Given the description of an element on the screen output the (x, y) to click on. 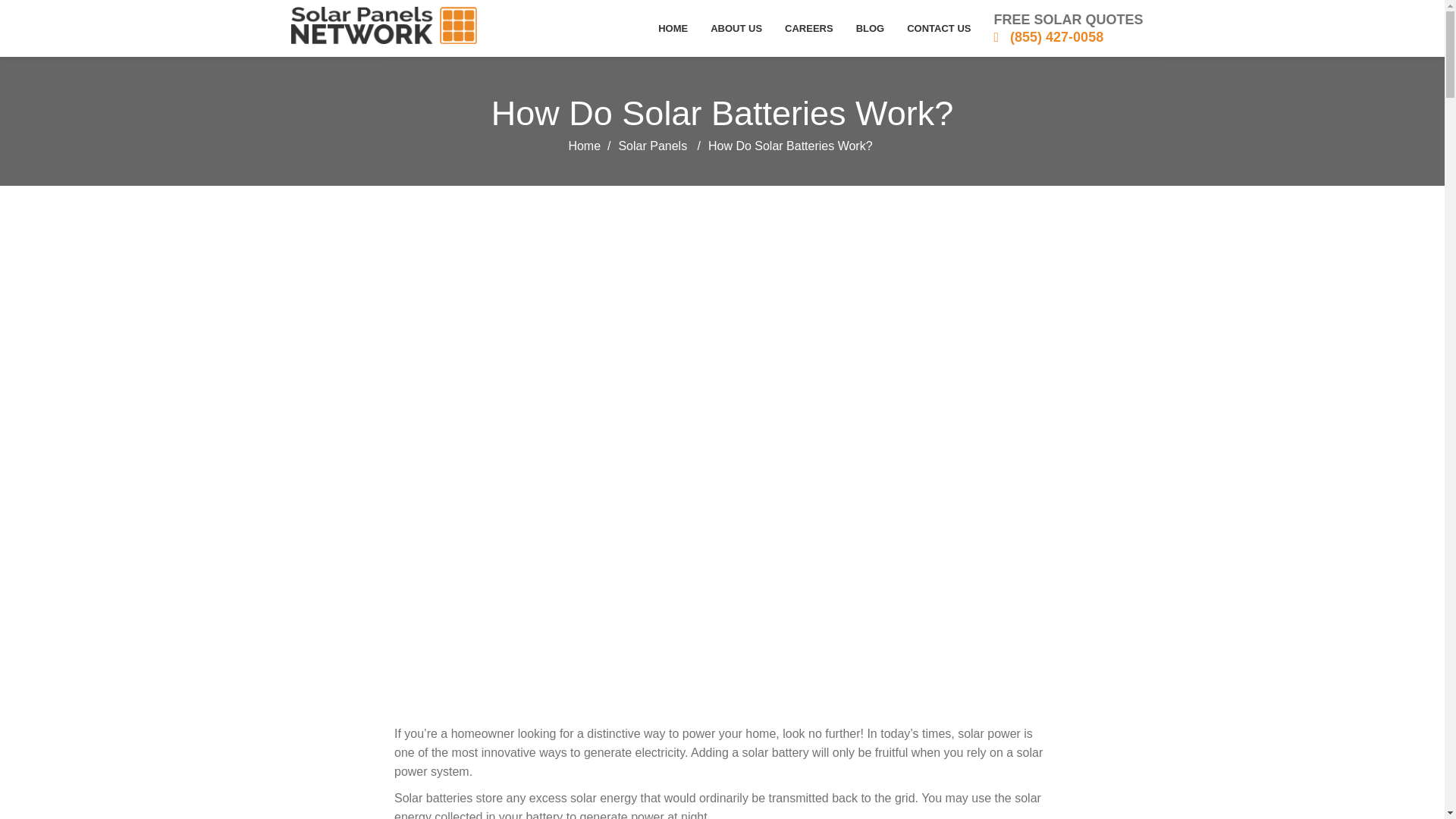
ABOUT US (735, 28)
HOME (672, 28)
CONTACT US (938, 28)
Solar Panels (652, 145)
Home (583, 145)
How Do Solar Batteries Work? (722, 113)
BLOG (870, 28)
CAREERS (808, 28)
